Given the description of an element on the screen output the (x, y) to click on. 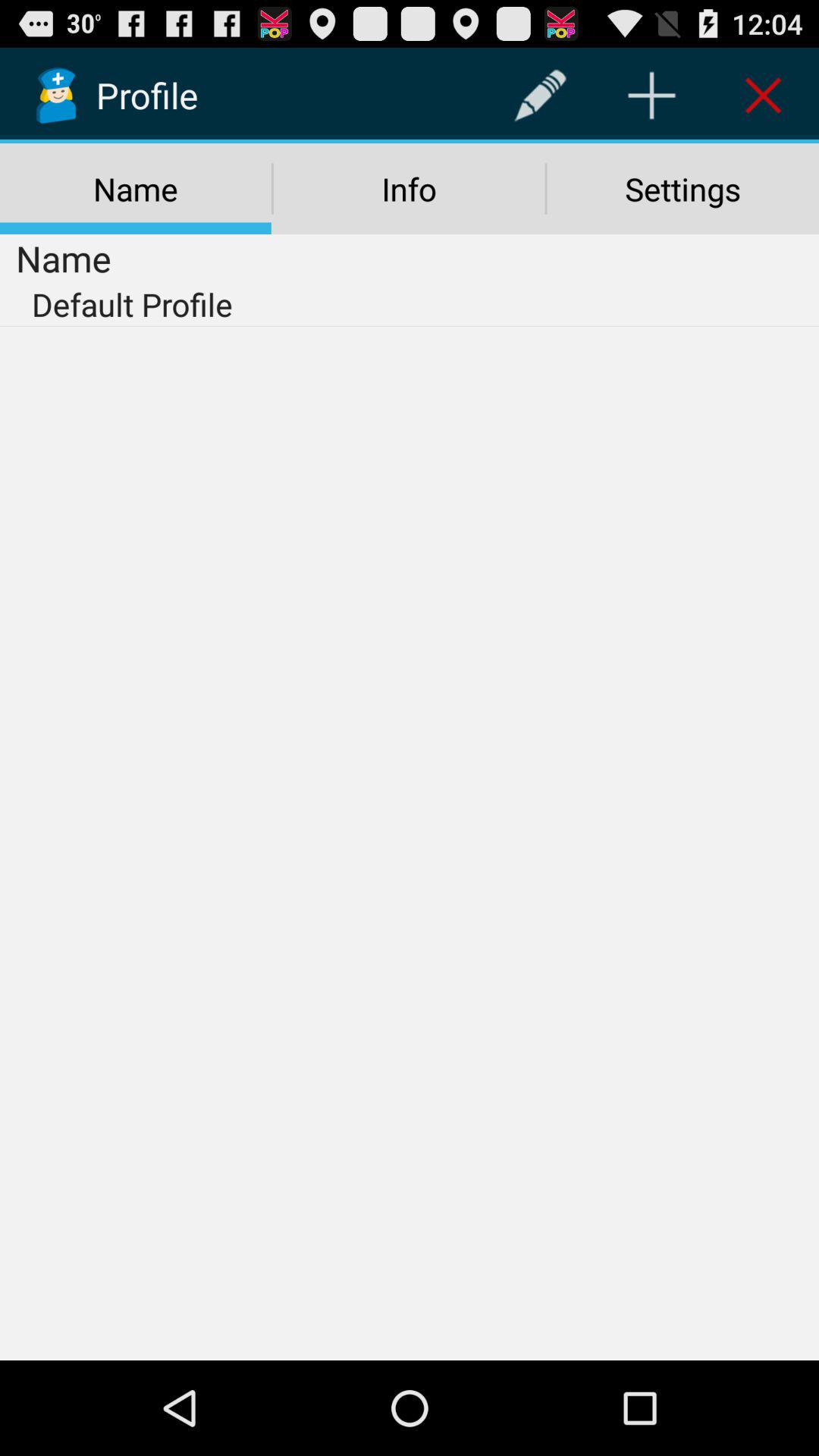
turn on the icon to the right of the name icon (408, 188)
